Given the description of an element on the screen output the (x, y) to click on. 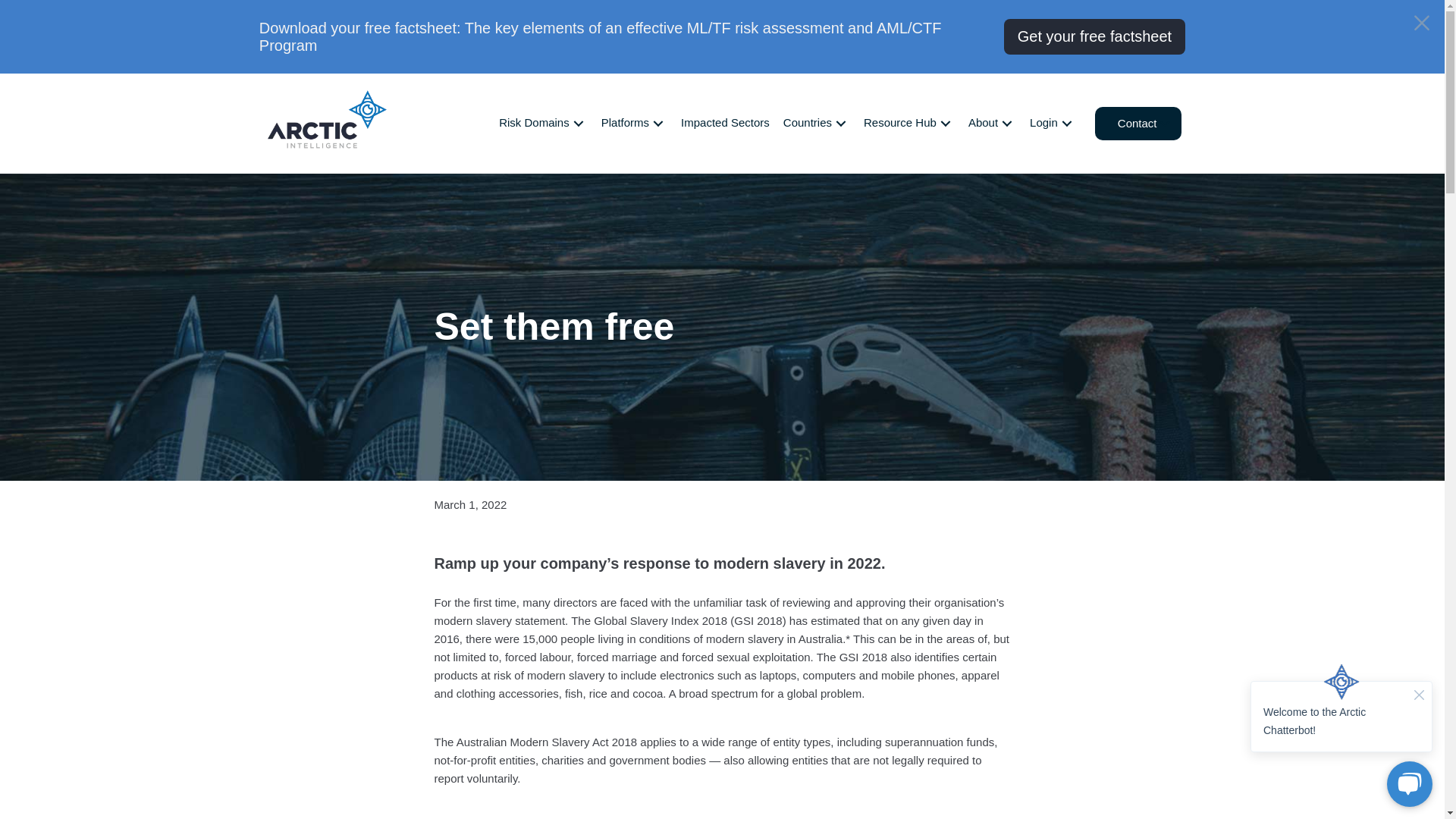
Platforms (635, 123)
Countries (817, 123)
Risk Domains (544, 123)
Impacted Sectors (726, 123)
Arctic Intelligence - home (326, 118)
